Given the description of an element on the screen output the (x, y) to click on. 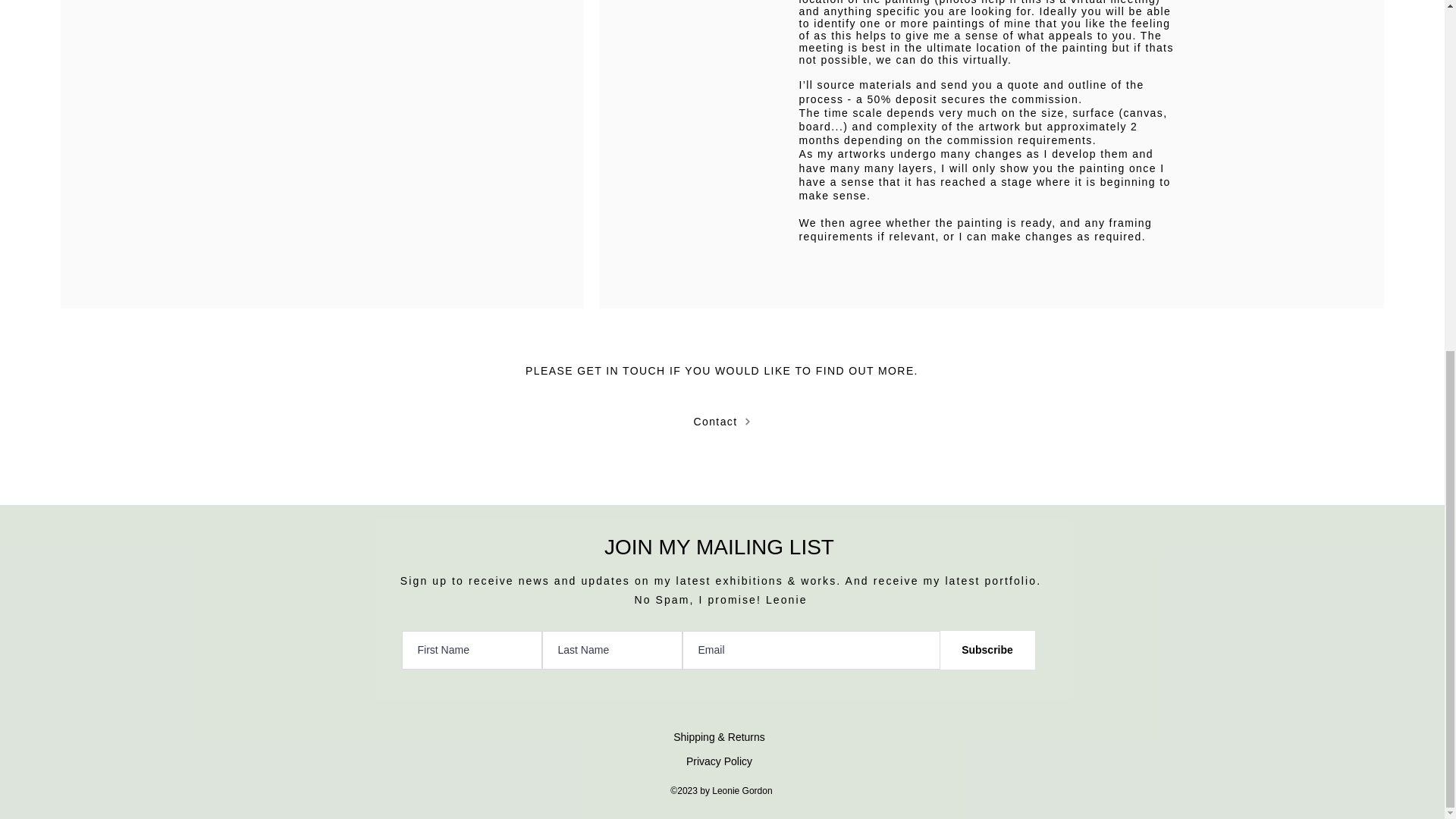
Contact (722, 421)
Subscribe (987, 649)
Privacy Policy (718, 761)
